Given the description of an element on the screen output the (x, y) to click on. 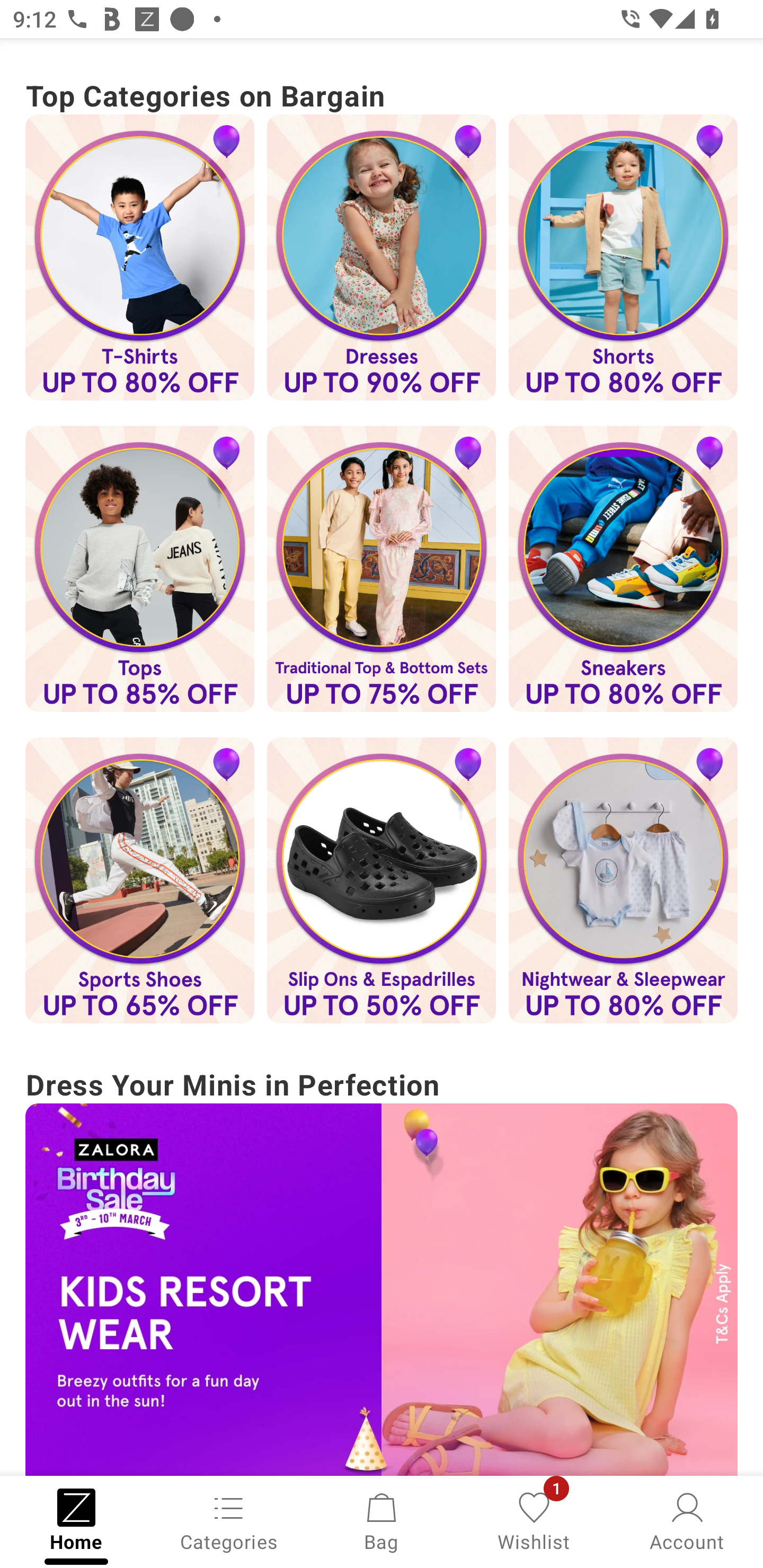
Campaign banner (139, 256)
Campaign banner (381, 256)
Campaign banner (622, 256)
Campaign banner (139, 568)
Campaign banner (381, 568)
Campaign banner (622, 568)
Campaign banner (139, 879)
Campaign banner (381, 879)
Campaign banner (622, 879)
Dress Your Minis in Perfection Campaign banner (381, 1268)
Campaign banner (381, 1289)
Categories (228, 1519)
Bag (381, 1519)
Wishlist, 1 new notification Wishlist (533, 1519)
Account (686, 1519)
